Given the description of an element on the screen output the (x, y) to click on. 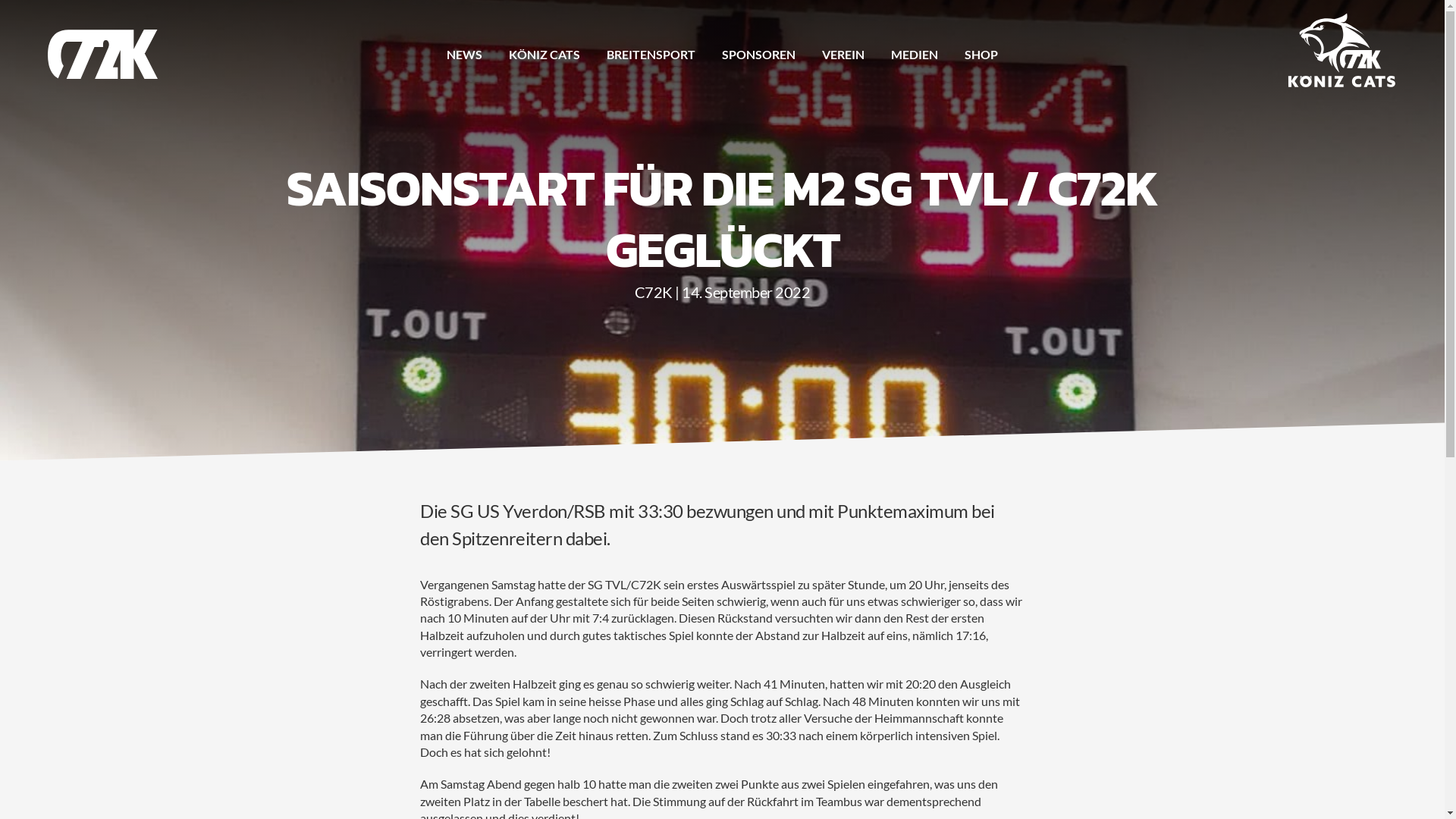
NEWS Element type: text (464, 54)
VEREIN Element type: text (843, 54)
BREITENSPORT Element type: text (650, 54)
SHOP Element type: text (980, 54)
SPONSOREN Element type: text (758, 54)
MEDIEN Element type: text (914, 54)
